Given the description of an element on the screen output the (x, y) to click on. 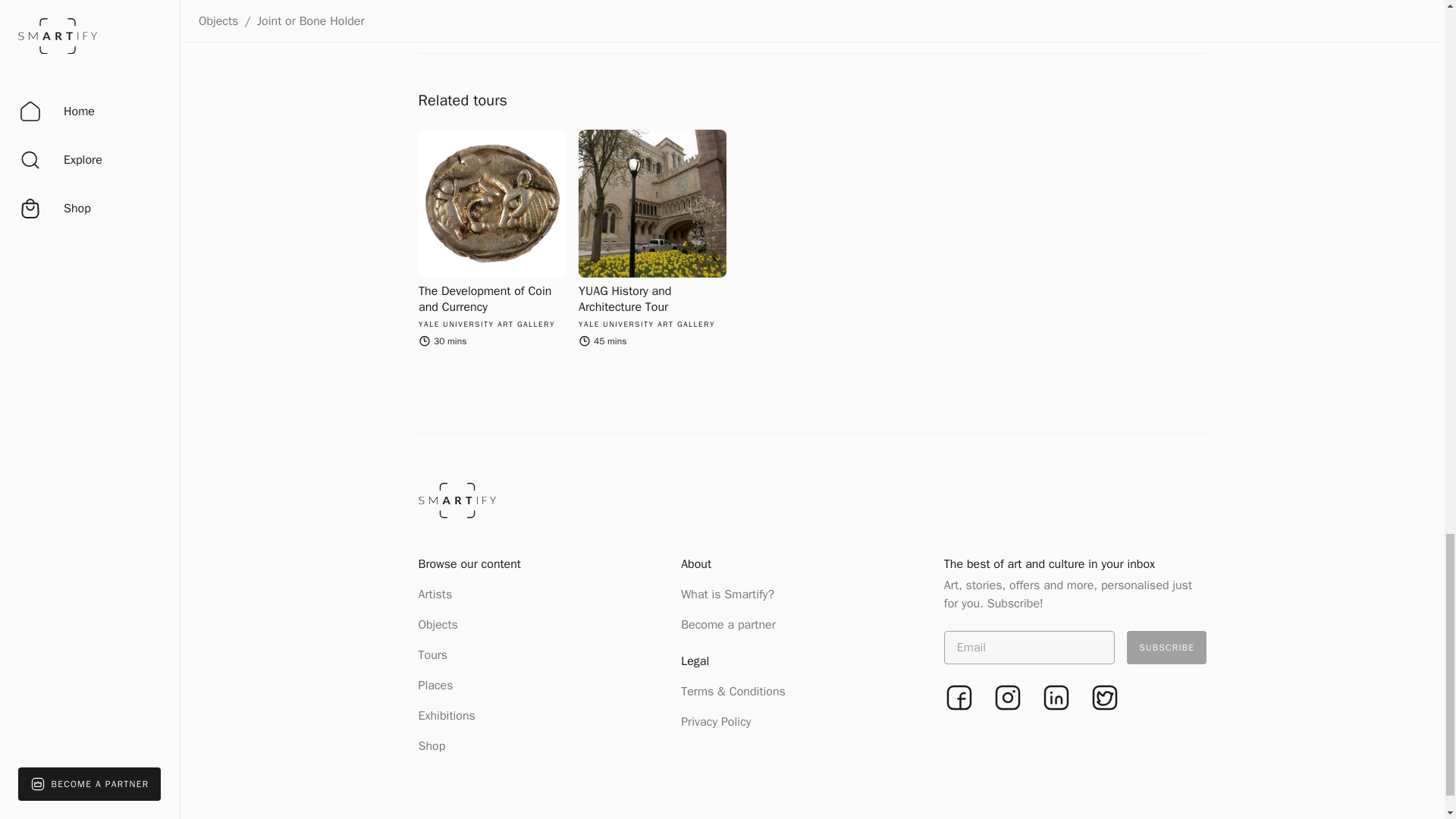
Artists (435, 594)
Privacy Policy (716, 721)
American Decorative Arts, 1835-1900 (492, 8)
Exhibitions (447, 715)
Places (435, 685)
Shop (432, 745)
Objects (438, 624)
Smartify on Twitter (1104, 697)
Tours (433, 654)
Smartify on Instagram (1007, 697)
What is Smartify? (727, 594)
Smartify on Facebook (958, 697)
Become a partner (728, 624)
SUBSCRIBE (1166, 647)
